Given the description of an element on the screen output the (x, y) to click on. 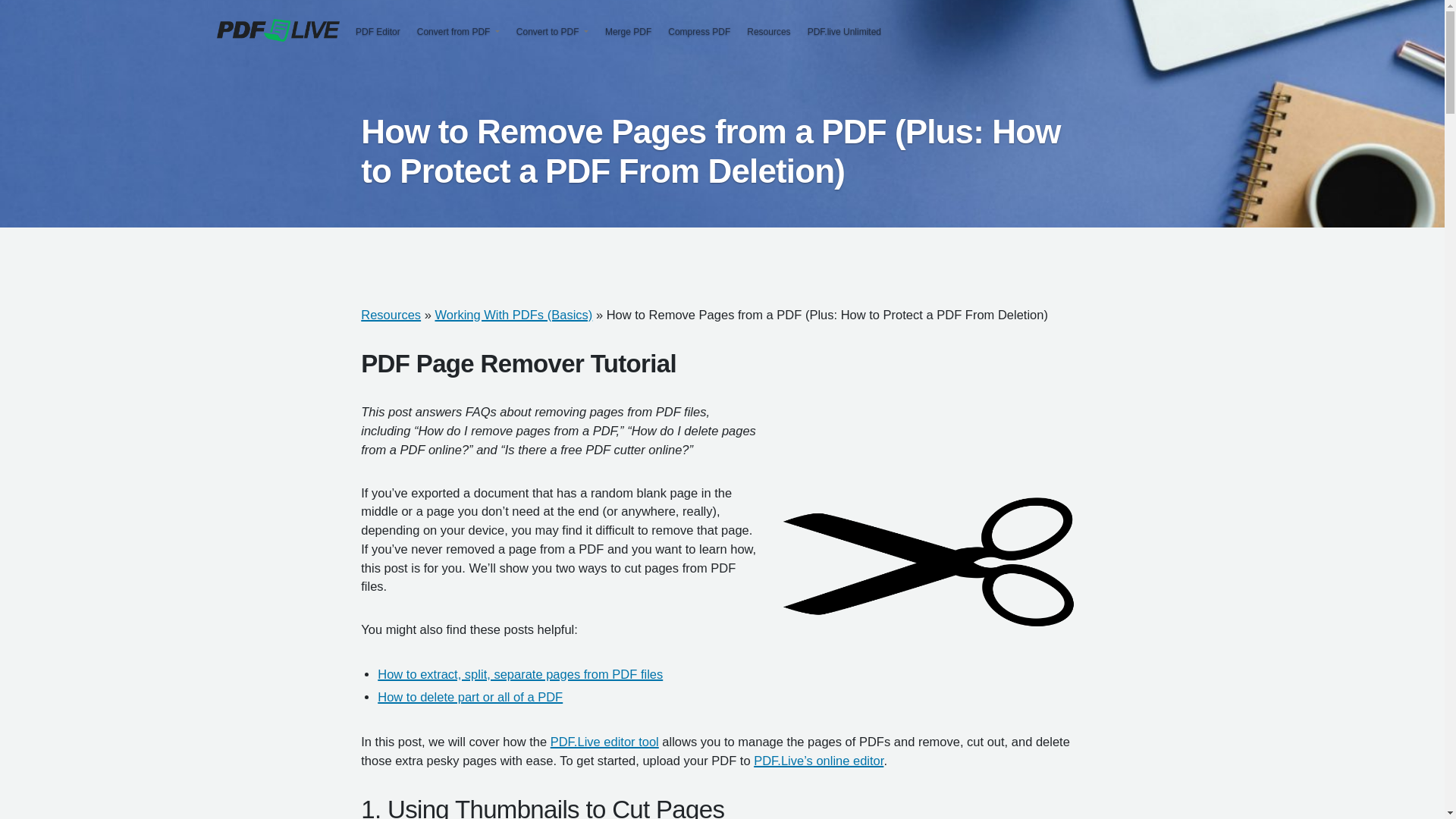
Resources (767, 31)
Resources (390, 314)
Compress PDF (698, 31)
PDF.Live editor tool (604, 741)
PDF Editor (378, 31)
How to delete part or all of a PDF (469, 696)
Convert to PDF (547, 31)
Convert from PDF (453, 31)
Merge PDF (627, 31)
How to extract, split, separate pages from PDF files (519, 673)
